Given the description of an element on the screen output the (x, y) to click on. 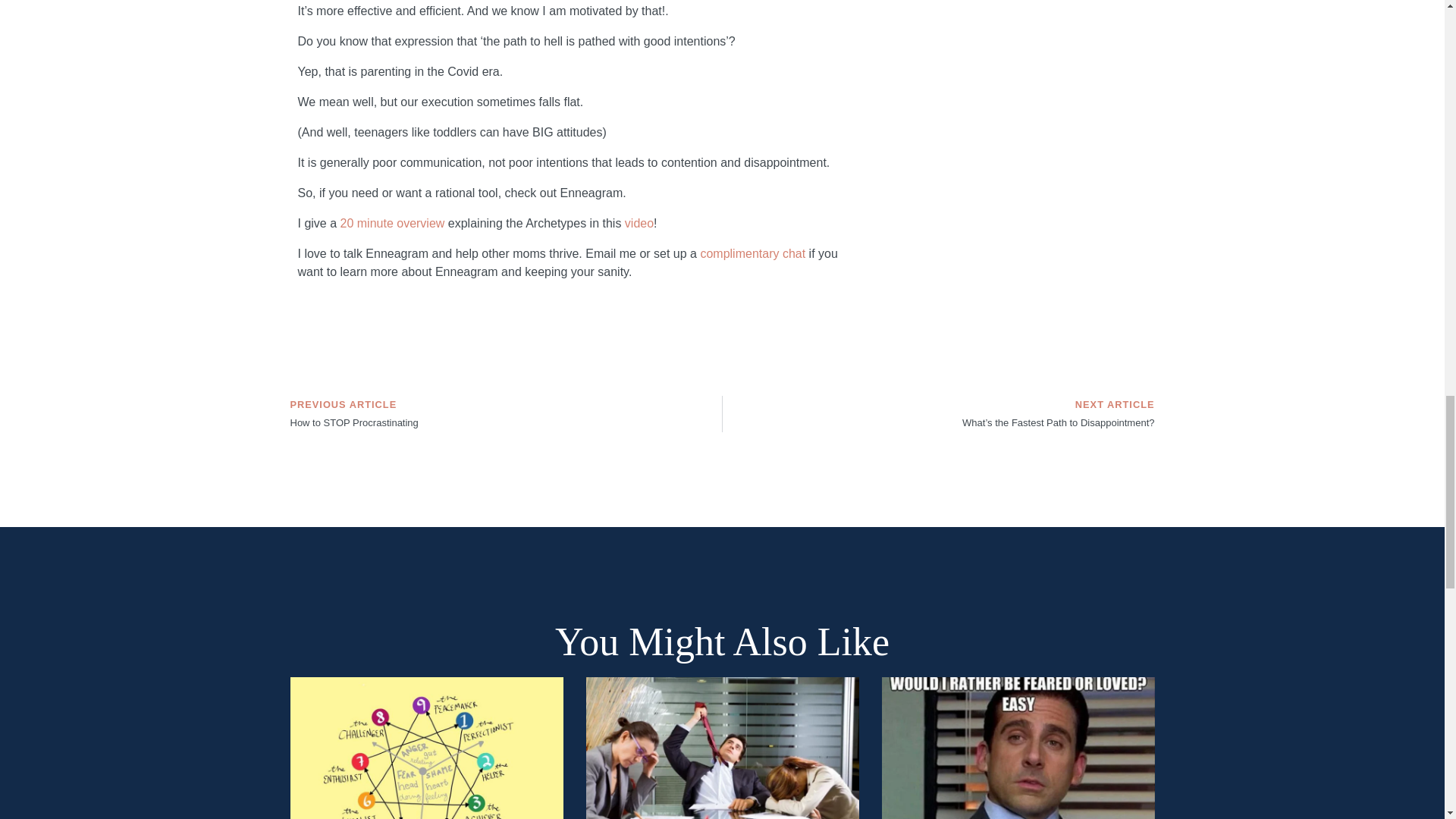
complimentary chat (752, 253)
20 minute overview (505, 413)
video (392, 223)
